Given the description of an element on the screen output the (x, y) to click on. 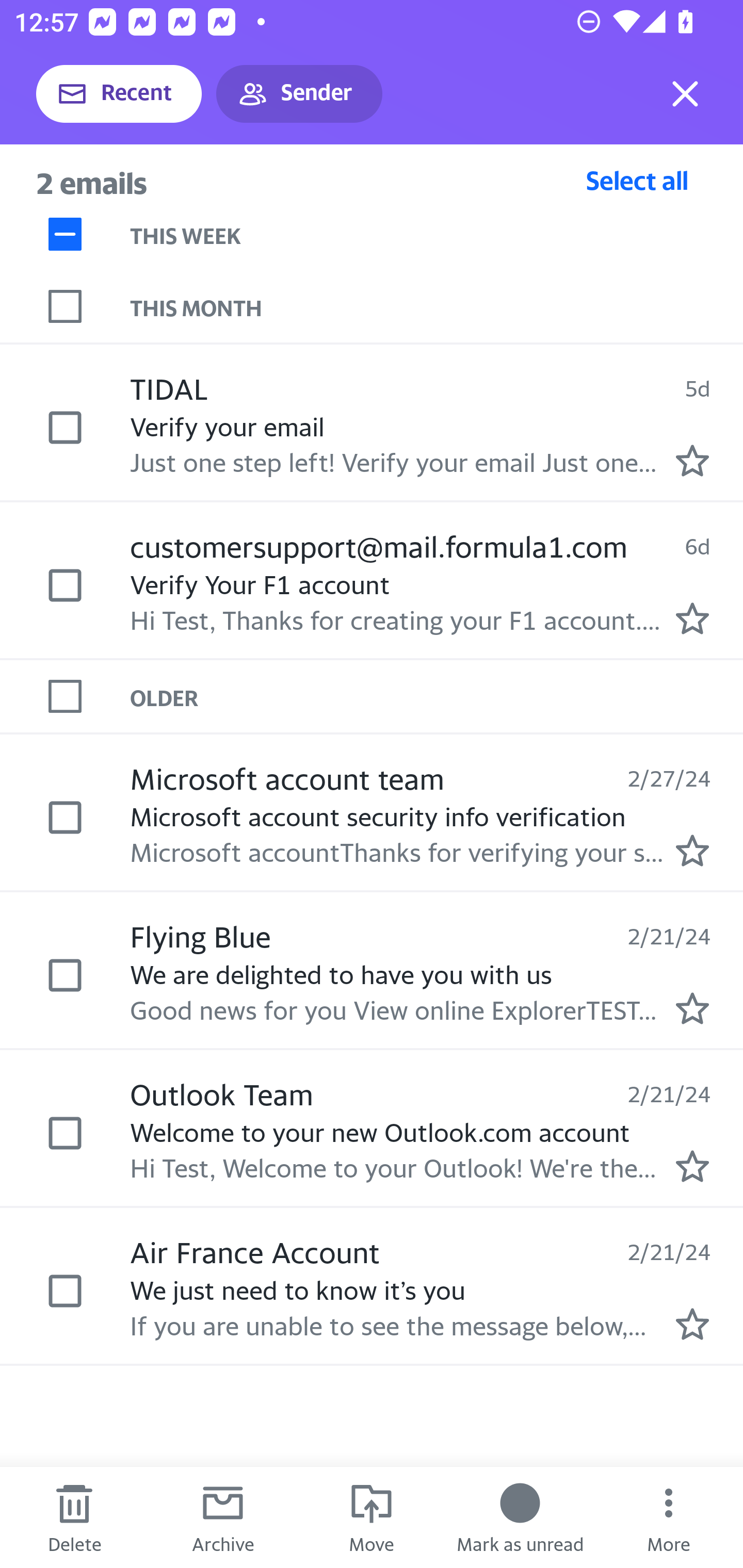
Sender (299, 93)
Exit selection mode (684, 93)
Select all (637, 180)
THIS MONTH (436, 306)
Mark as starred. (692, 460)
Mark as starred. (692, 618)
OLDER (436, 696)
Mark as starred. (692, 850)
Mark as starred. (692, 1008)
Mark as starred. (692, 1165)
Mark as starred. (692, 1324)
Delete (74, 1517)
Archive (222, 1517)
Move (371, 1517)
Mark as unread (519, 1517)
More (668, 1517)
